Given the description of an element on the screen output the (x, y) to click on. 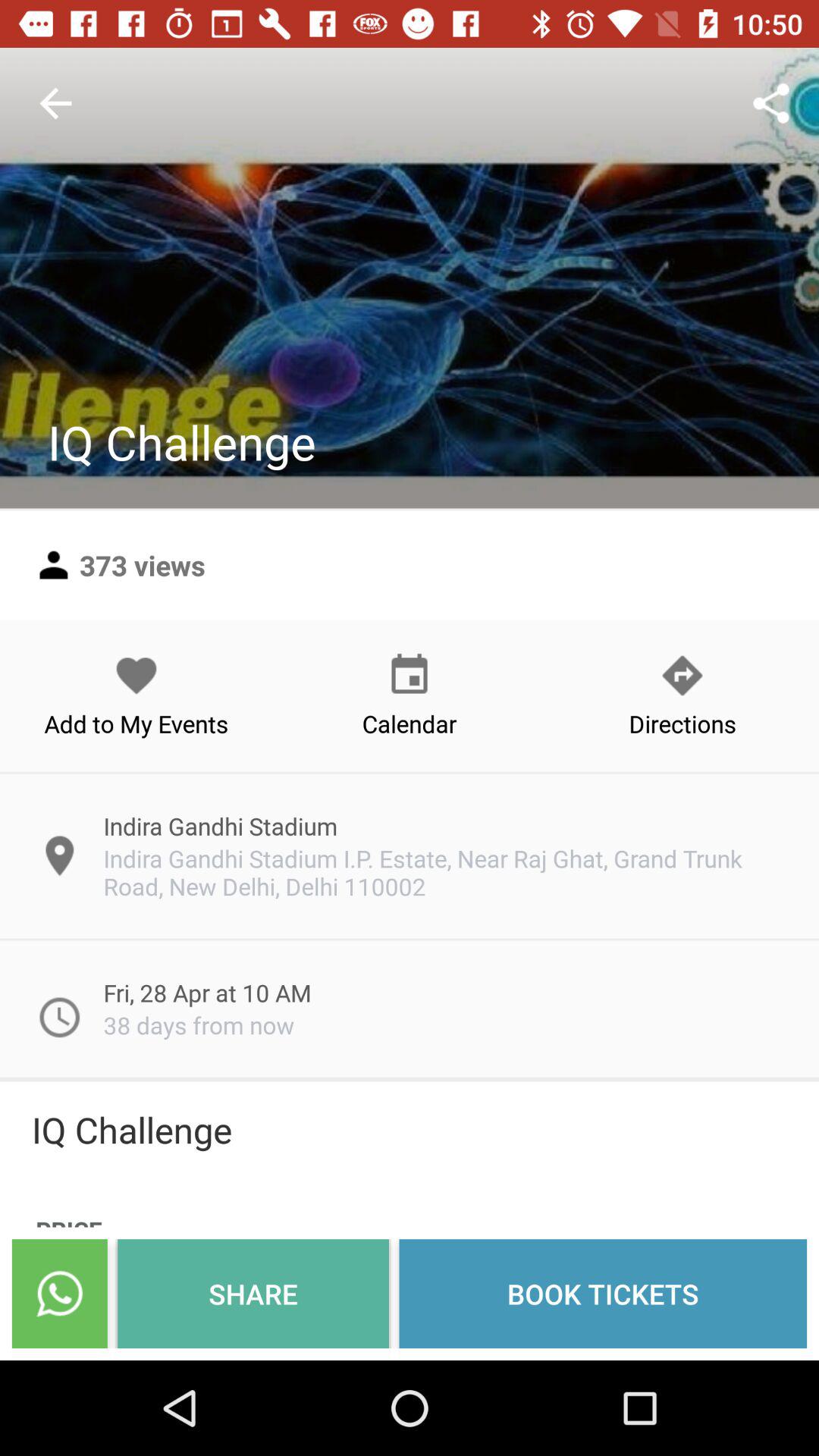
open the icon to the left of the calendar (136, 695)
